Given the description of an element on the screen output the (x, y) to click on. 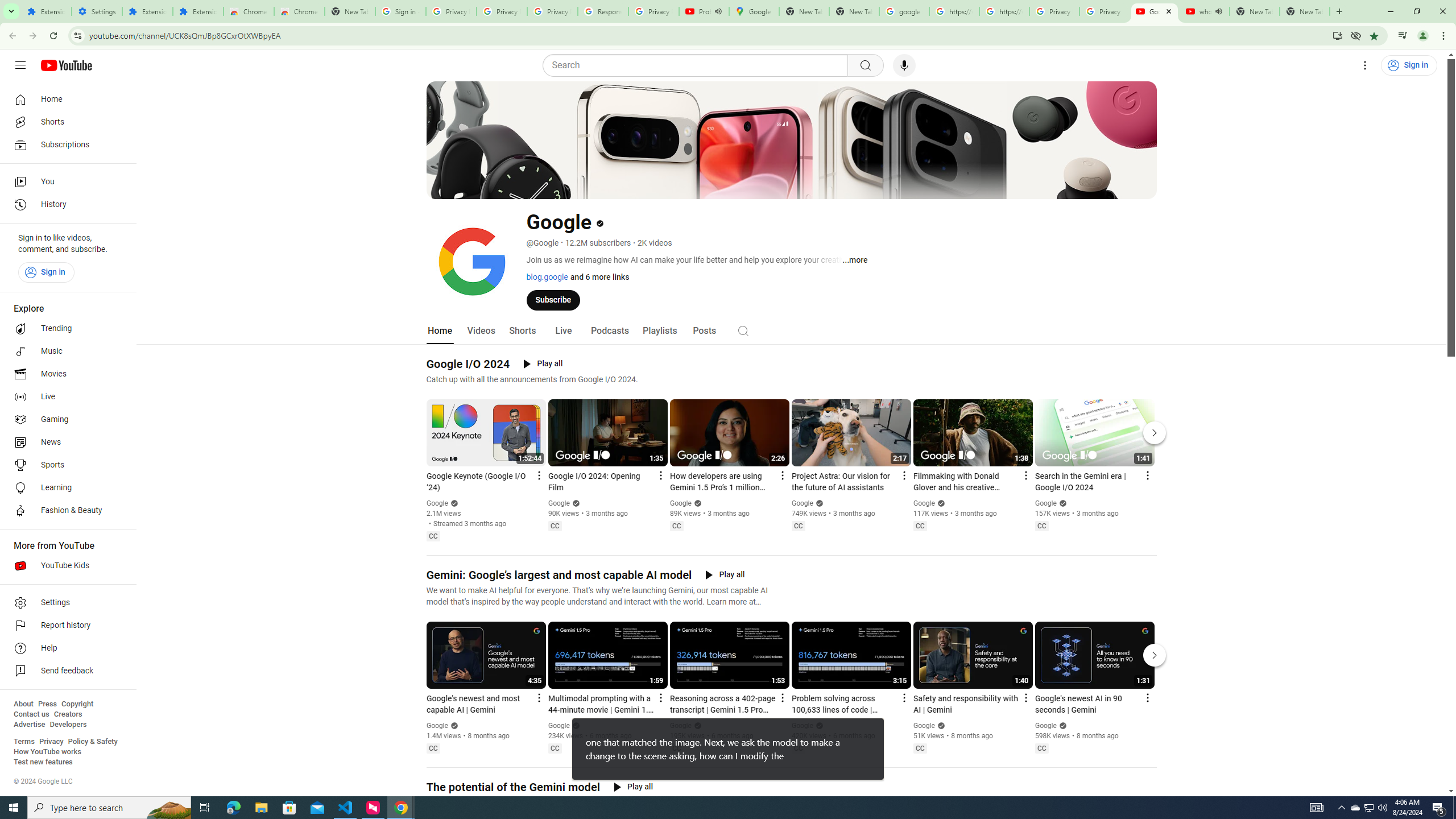
Posts (703, 330)
Forward (32, 35)
Google (1046, 725)
https://scholar.google.com/ (1004, 11)
Bookmark this tab (1373, 35)
https://scholar.google.com/ (954, 11)
Close (1168, 11)
Music (64, 350)
Learning (64, 487)
Subscribe (552, 299)
Privacy (51, 741)
Copyright (77, 703)
Action menu (1146, 697)
